Given the description of an element on the screen output the (x, y) to click on. 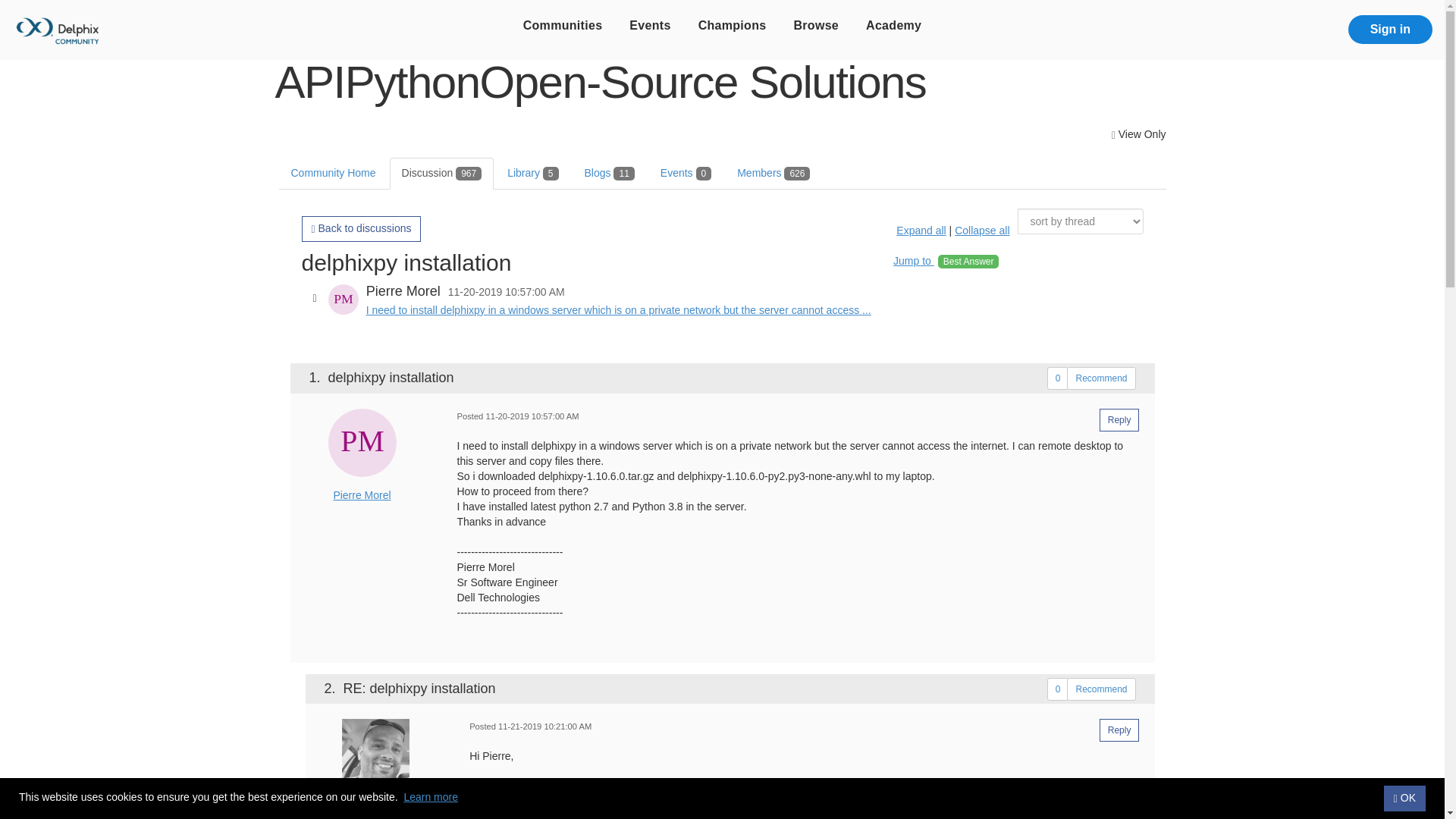
Pierre Morel (361, 442)
Community Home (333, 173)
Communities (562, 25)
 OK (1404, 798)
Champions (732, 25)
DataOps Champion (376, 799)
Members 626 (773, 173)
Events 0 (685, 173)
Recommend this item. (1101, 377)
Recommend this item. (1101, 689)
Browse (814, 25)
Learn more (430, 797)
Blogs 11 (609, 173)
Events (649, 25)
Sign in (1390, 29)
